Given the description of an element on the screen output the (x, y) to click on. 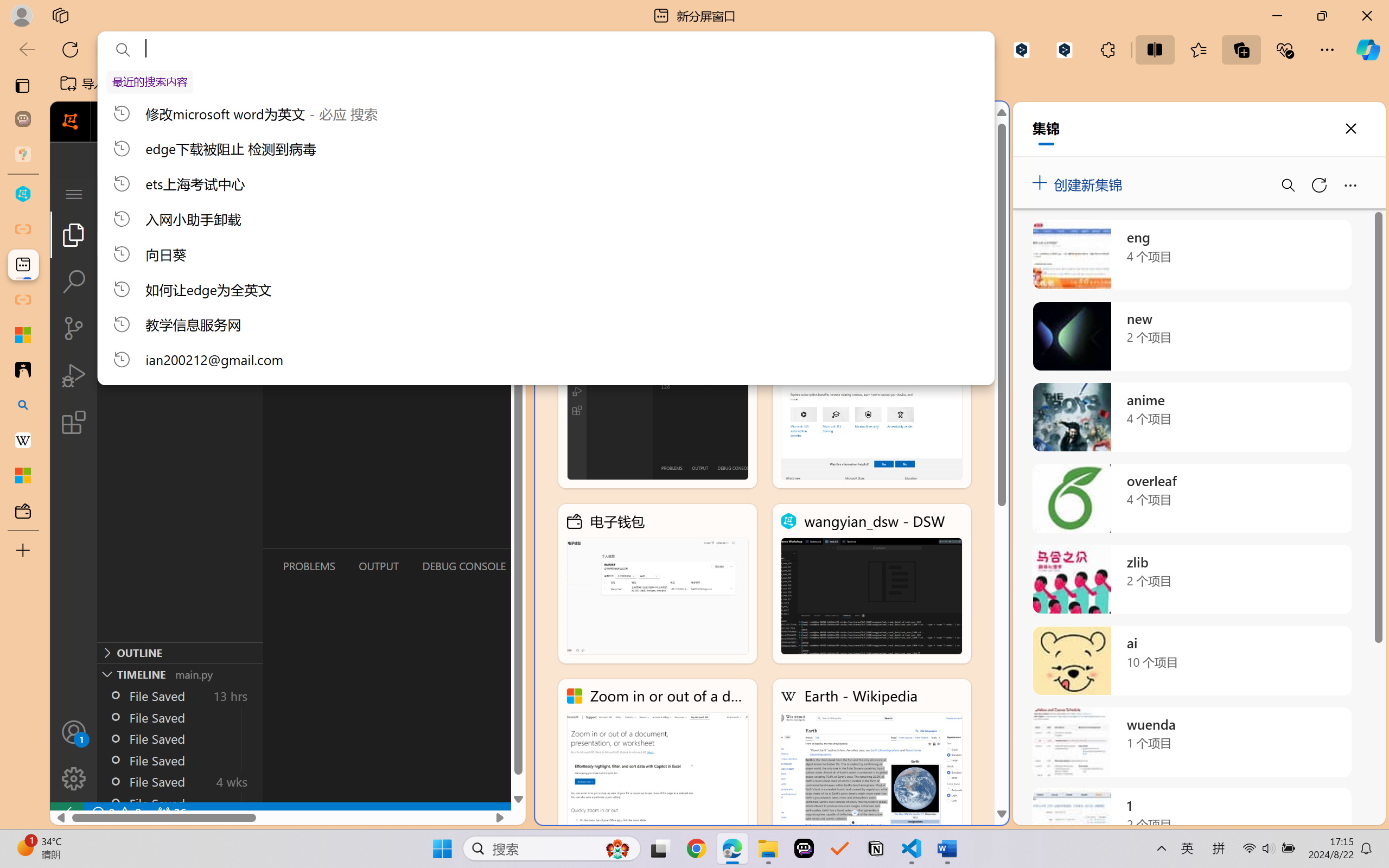
SJTUvpn (419, 83)
Earth - Wikipedia (22, 440)
Search (Ctrl+Shift+F) (73, 281)
remote (66, 812)
Copilot (Ctrl+Shift+.) (1368, 49)
Explorer Section: wangyian (179, 221)
